Given the description of an element on the screen output the (x, y) to click on. 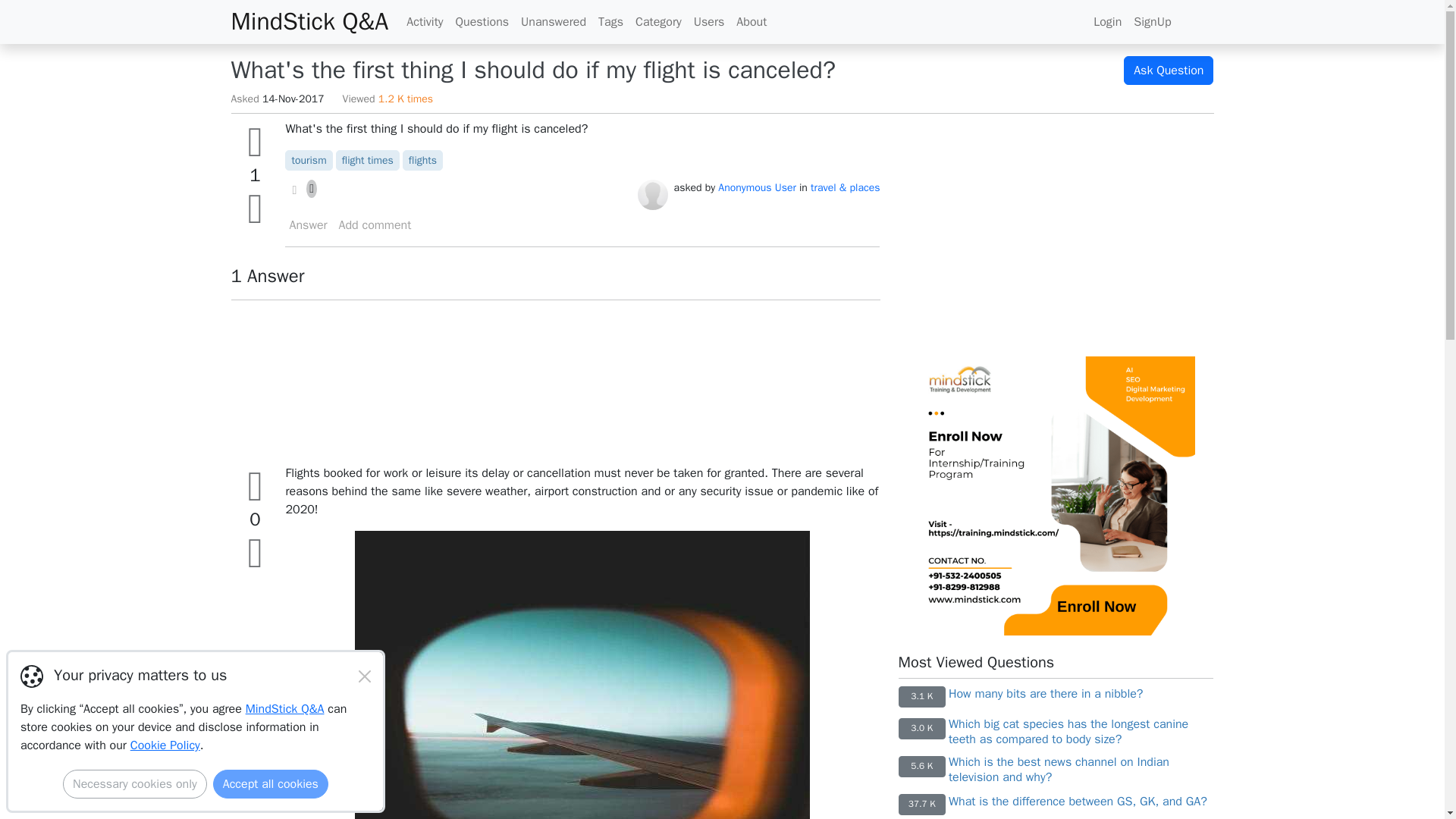
Users (708, 21)
Unanswered (553, 21)
Click to vote up (254, 486)
flight times (367, 160)
Login (1106, 21)
Click to vote down (254, 208)
Click to vote up (254, 141)
Add comment (374, 225)
Anonymous User (756, 187)
Answer this question (309, 225)
Category (657, 21)
Advertisement (554, 381)
Add a comment on this question (374, 225)
Anonymous User (652, 193)
Ask Question (1168, 70)
